Given the description of an element on the screen output the (x, y) to click on. 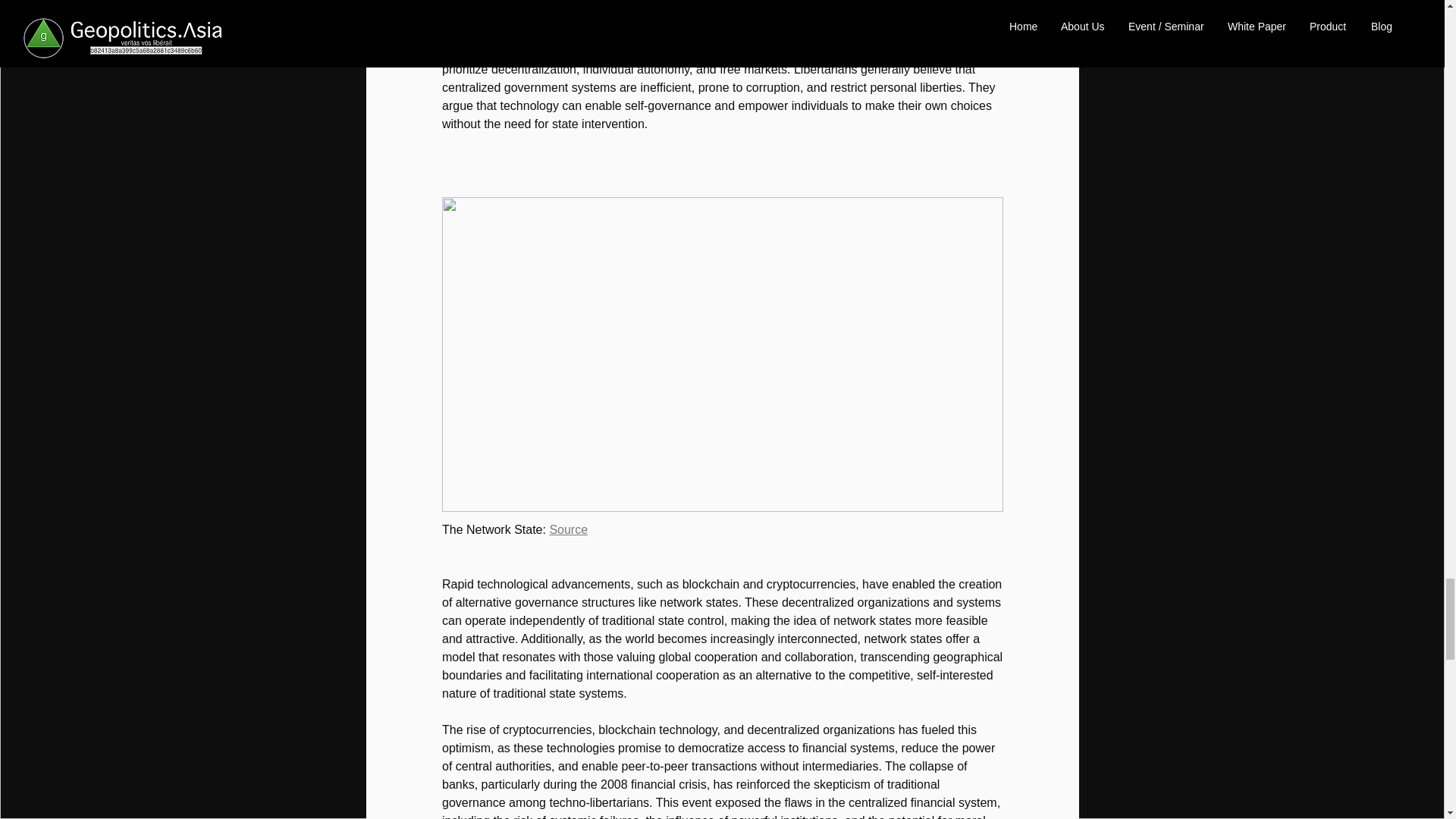
network state (911, 14)
Source (568, 529)
